Given the description of an element on the screen output the (x, y) to click on. 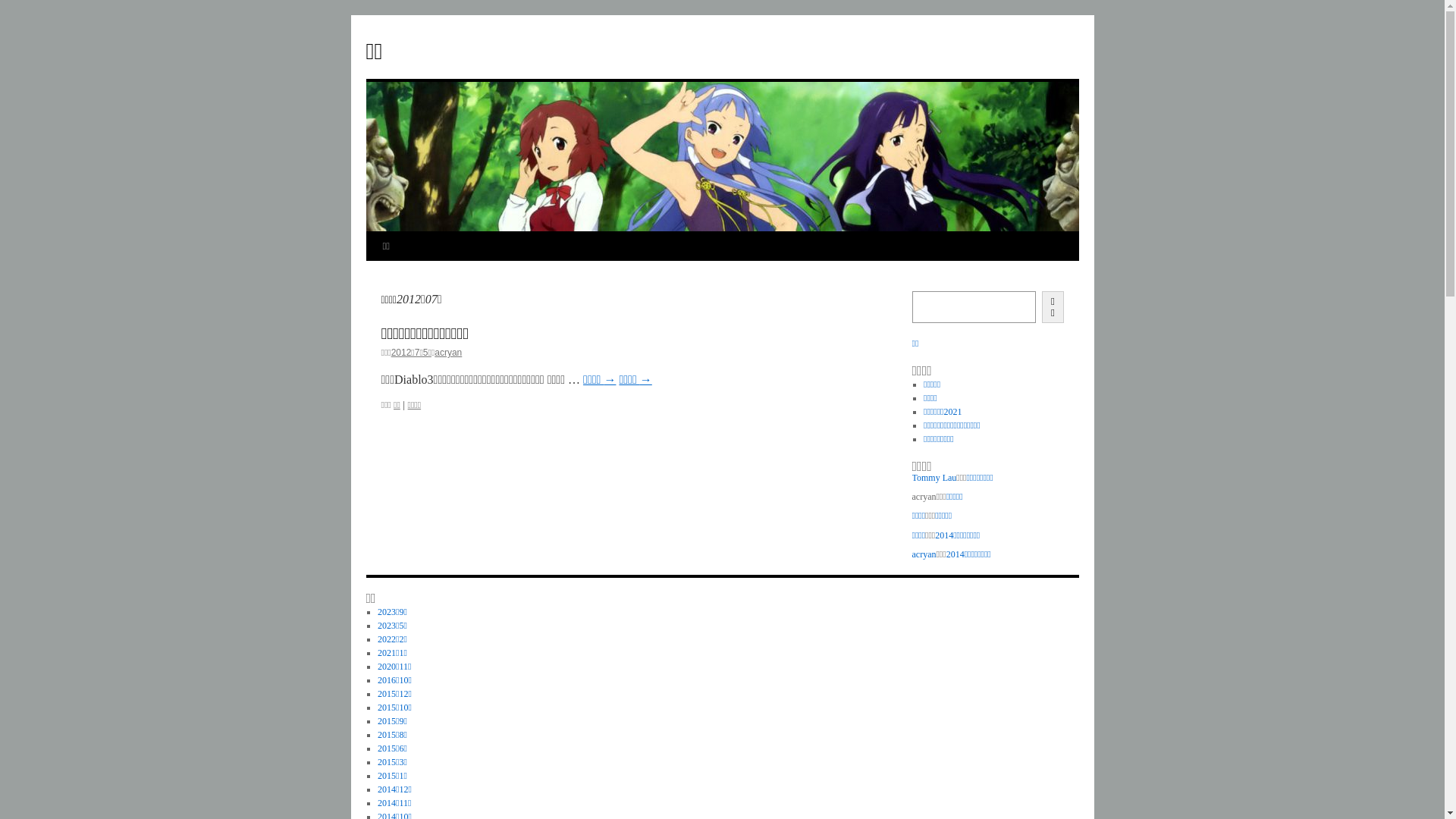
Tommy Lau Element type: text (933, 477)
acryan Element type: text (923, 554)
acryan Element type: text (447, 352)
